Given the description of an element on the screen output the (x, y) to click on. 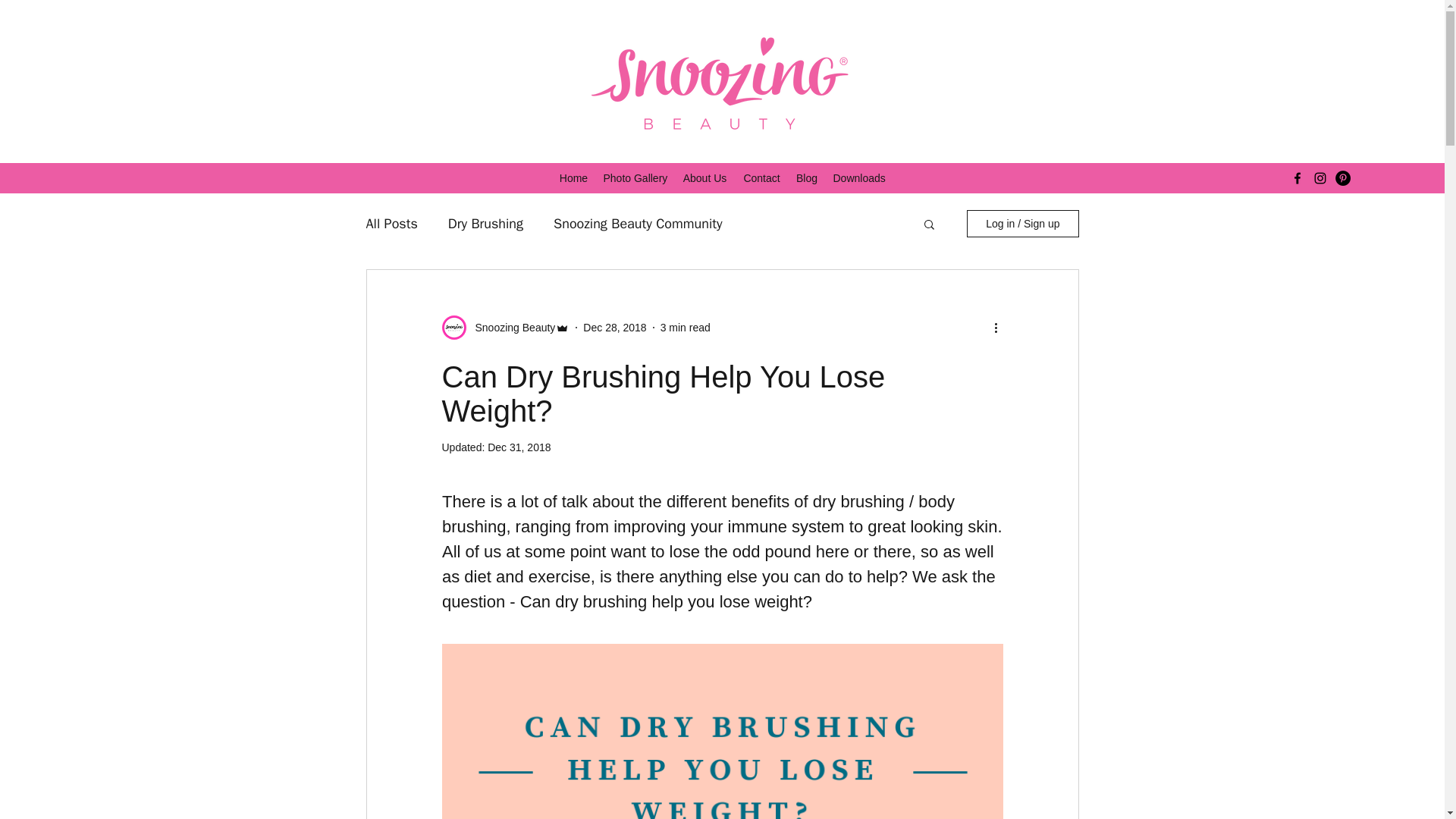
About Us (705, 178)
Contact (762, 178)
Blog (807, 178)
Dry Brushing (485, 223)
Home (573, 178)
Snoozing Beauty Community (637, 223)
3 min read (685, 327)
Dec 28, 2018 (614, 327)
Dec 31, 2018 (518, 447)
Snoozing Beauty (509, 327)
